Given the description of an element on the screen output the (x, y) to click on. 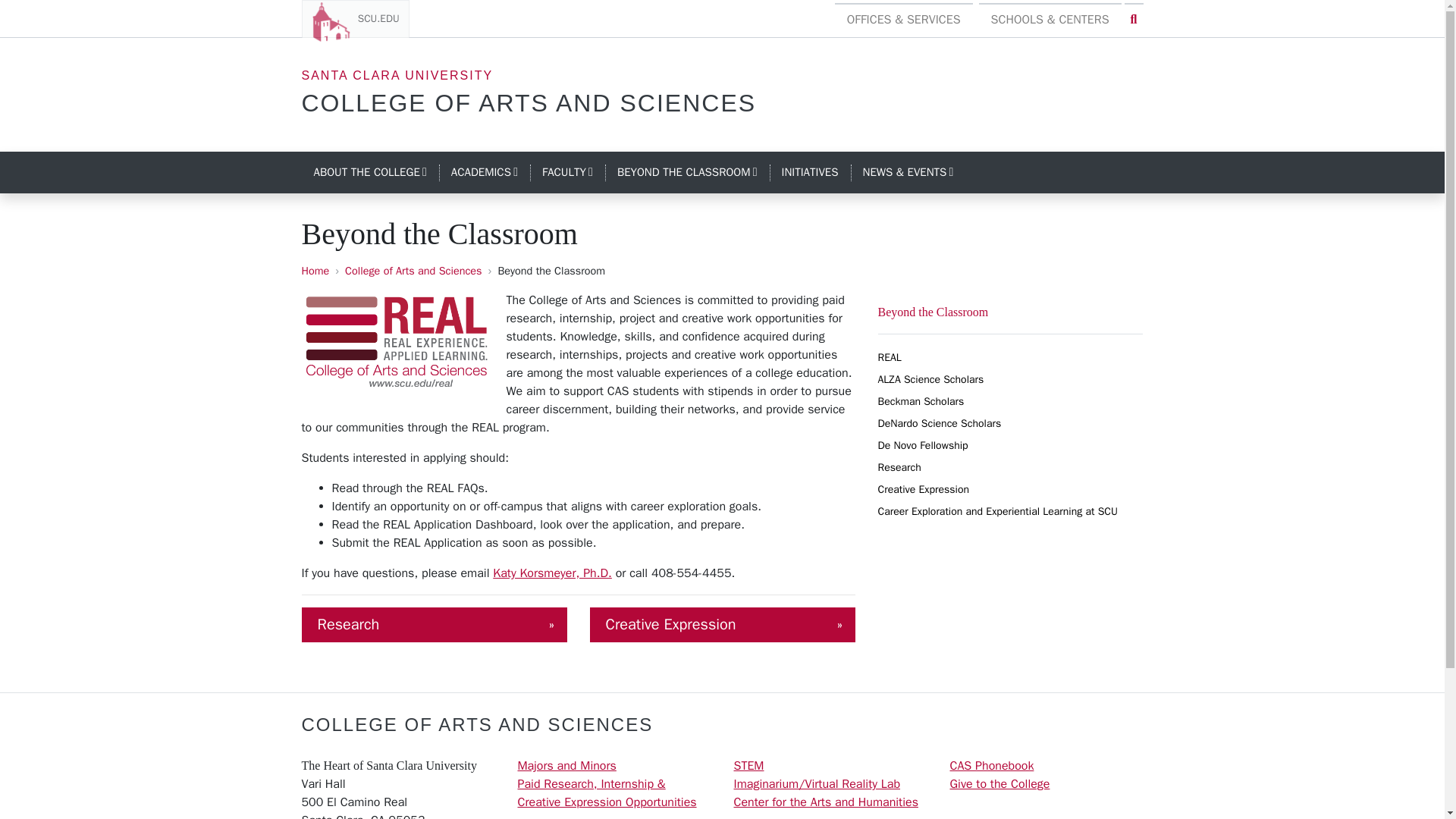
COLLEGE OF ARTS AND SCIENCES (484, 172)
SANTA CLARA UNIVERSITY (529, 103)
SCU.EDU (370, 172)
